Given the description of an element on the screen output the (x, y) to click on. 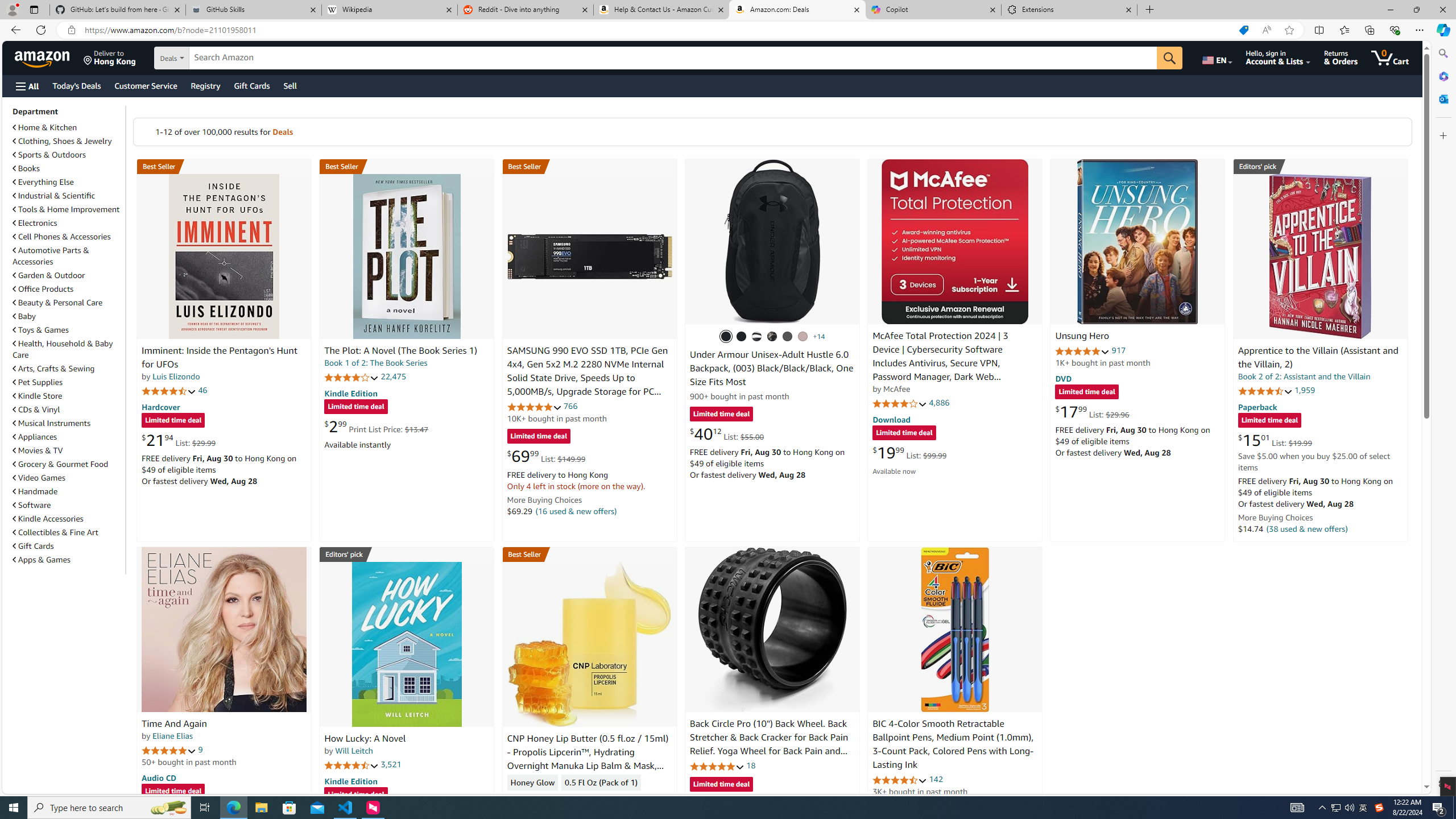
Amazon.com: Deals (797, 9)
Editors' pick Best Mystery, Thriller & Suspense (406, 553)
Pet Supplies (37, 381)
Pet Supplies (67, 382)
Gift Cards (67, 546)
Clothing, Shoes & Jewelry (67, 140)
The Plot: A Novel (The Book Series 1) (406, 256)
Baby (67, 315)
Search Amazon (673, 57)
Read aloud this page (Ctrl+Shift+U) (1266, 29)
917 (1117, 350)
Sports & Outdoors (67, 154)
Apprentice to the Villain (Assistant and the Villain, 2) (1319, 256)
(003) Black / Black / Black (725, 336)
Video Games (39, 477)
